Given the description of an element on the screen output the (x, y) to click on. 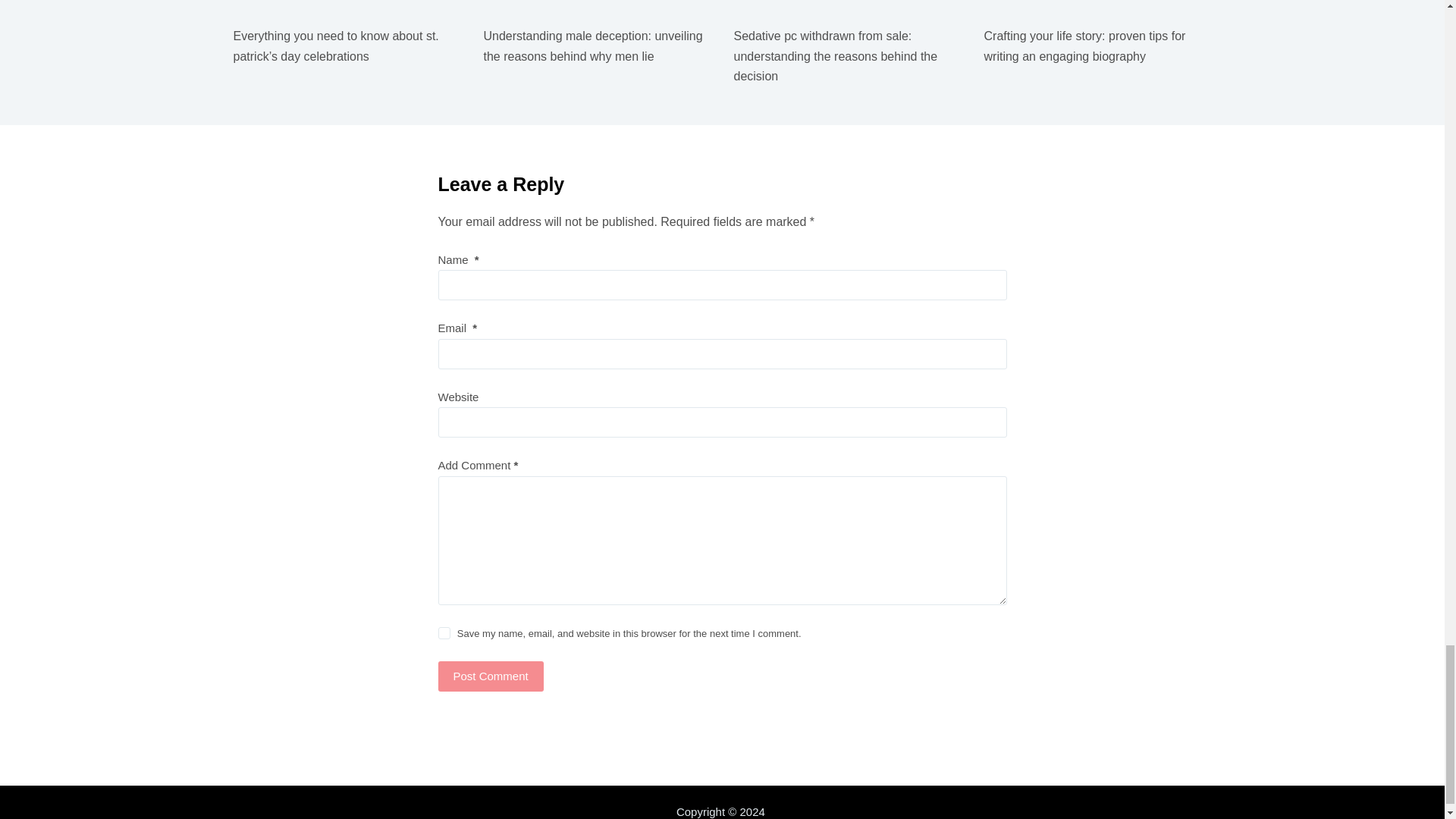
Post Comment (490, 675)
yes (443, 633)
